Given the description of an element on the screen output the (x, y) to click on. 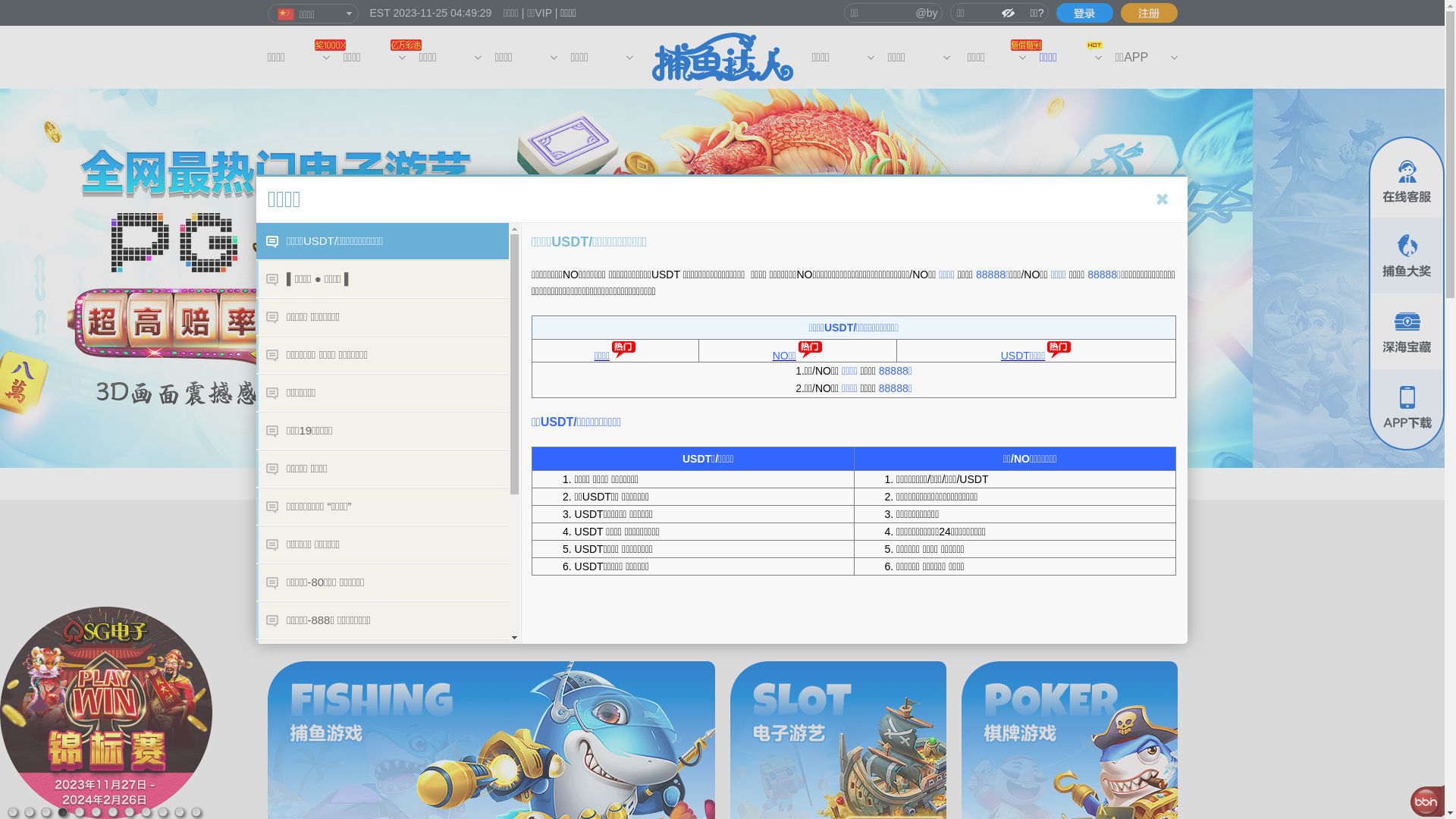
  Element type: text (1083, 12)
